Given the description of an element on the screen output the (x, y) to click on. 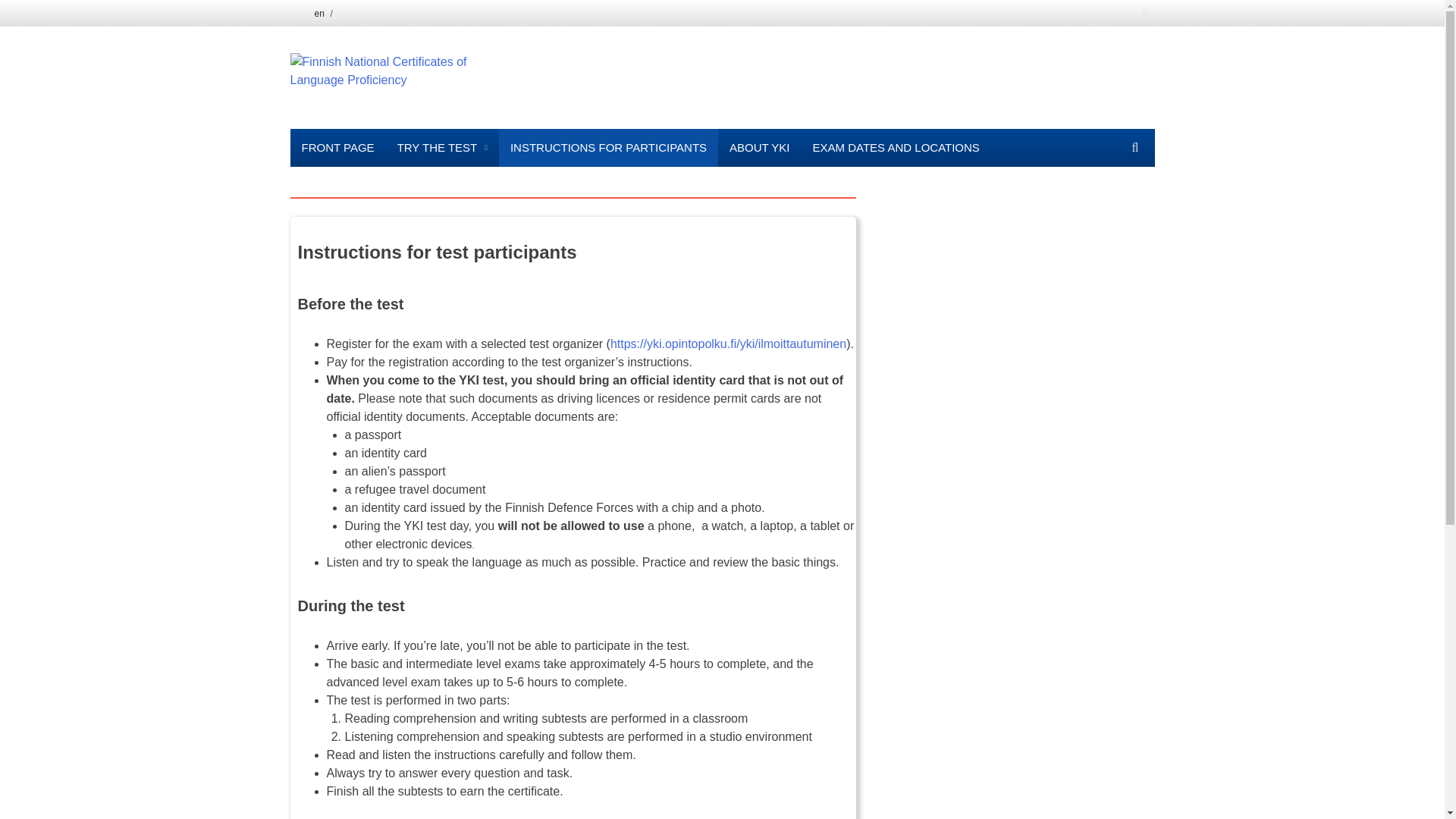
ABOUT YKI (758, 147)
INSTRUCTIONS FOR PARTICIPANTS (608, 147)
EXAM DATES AND LOCATIONS (896, 147)
en (310, 13)
FRONT PAGE (337, 147)
TRY THE TEST (442, 147)
